Given the description of an element on the screen output the (x, y) to click on. 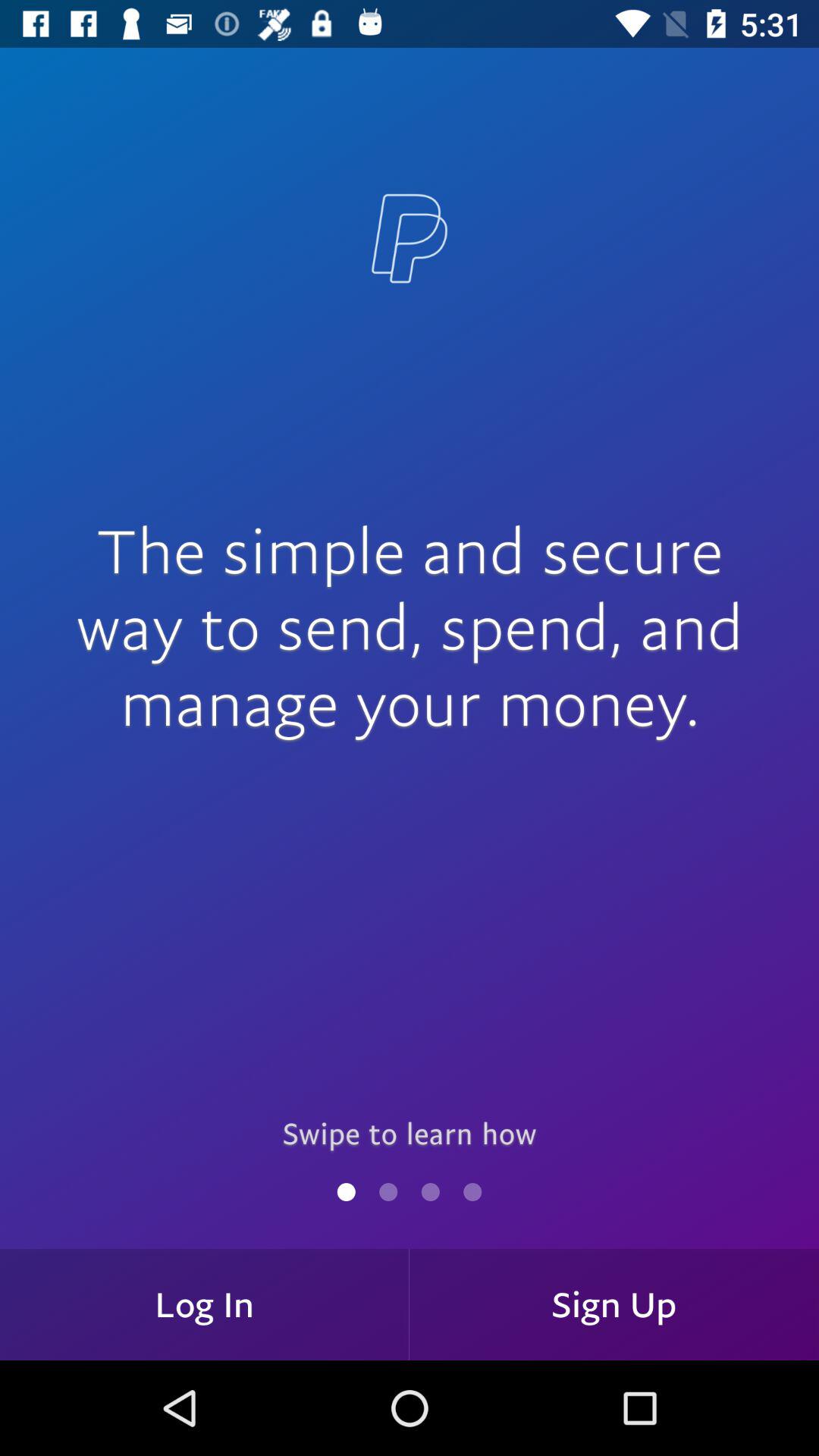
jump to the sign up (614, 1304)
